Given the description of an element on the screen output the (x, y) to click on. 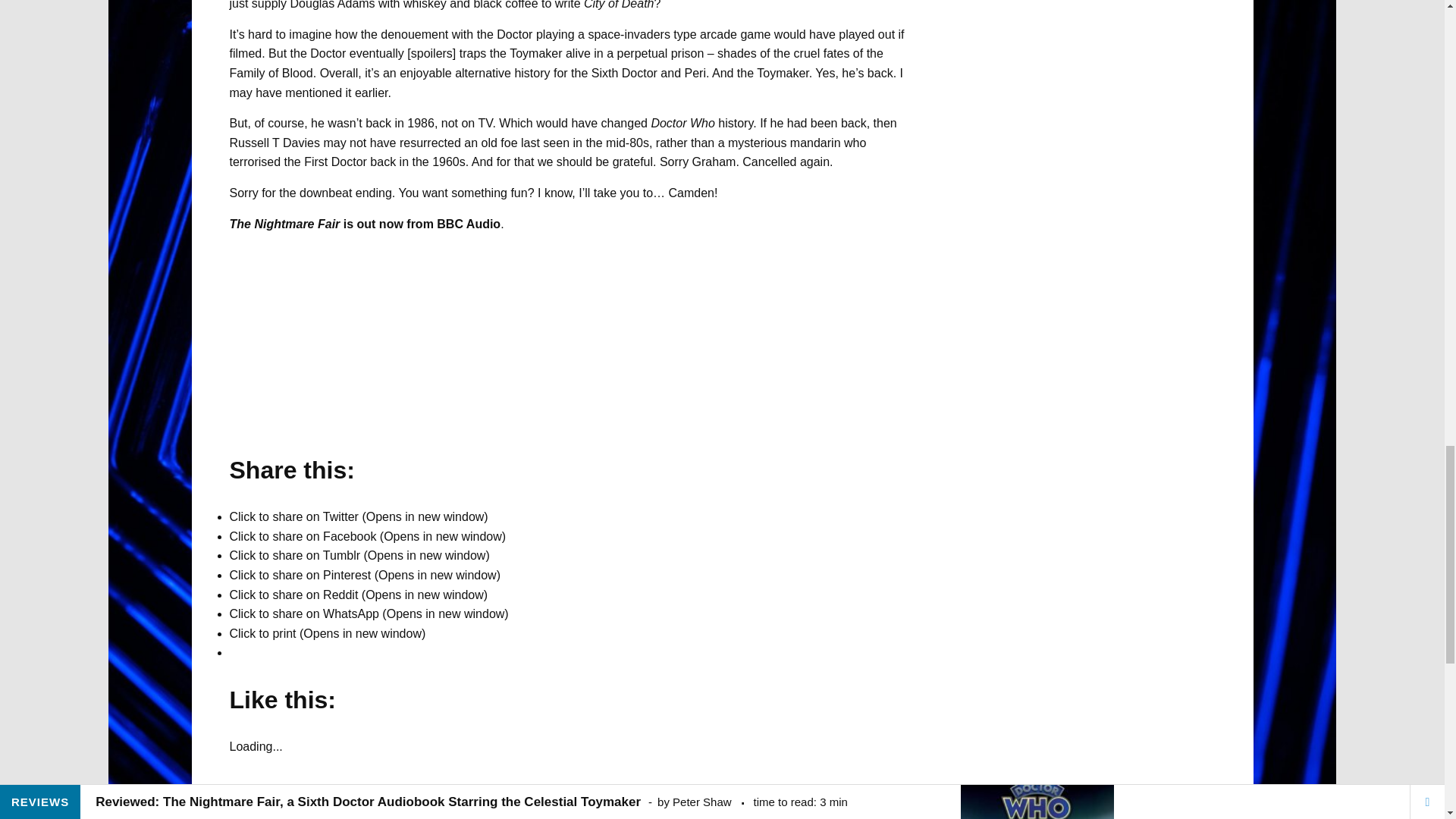
Click to share on Twitter (357, 516)
Click to share on Facebook (366, 535)
Click to share on Reddit (357, 594)
Click to print (326, 633)
Click to share on WhatsApp (368, 613)
Click to share on Pinterest (364, 574)
Click to share on Tumblr (358, 554)
